Given the description of an element on the screen output the (x, y) to click on. 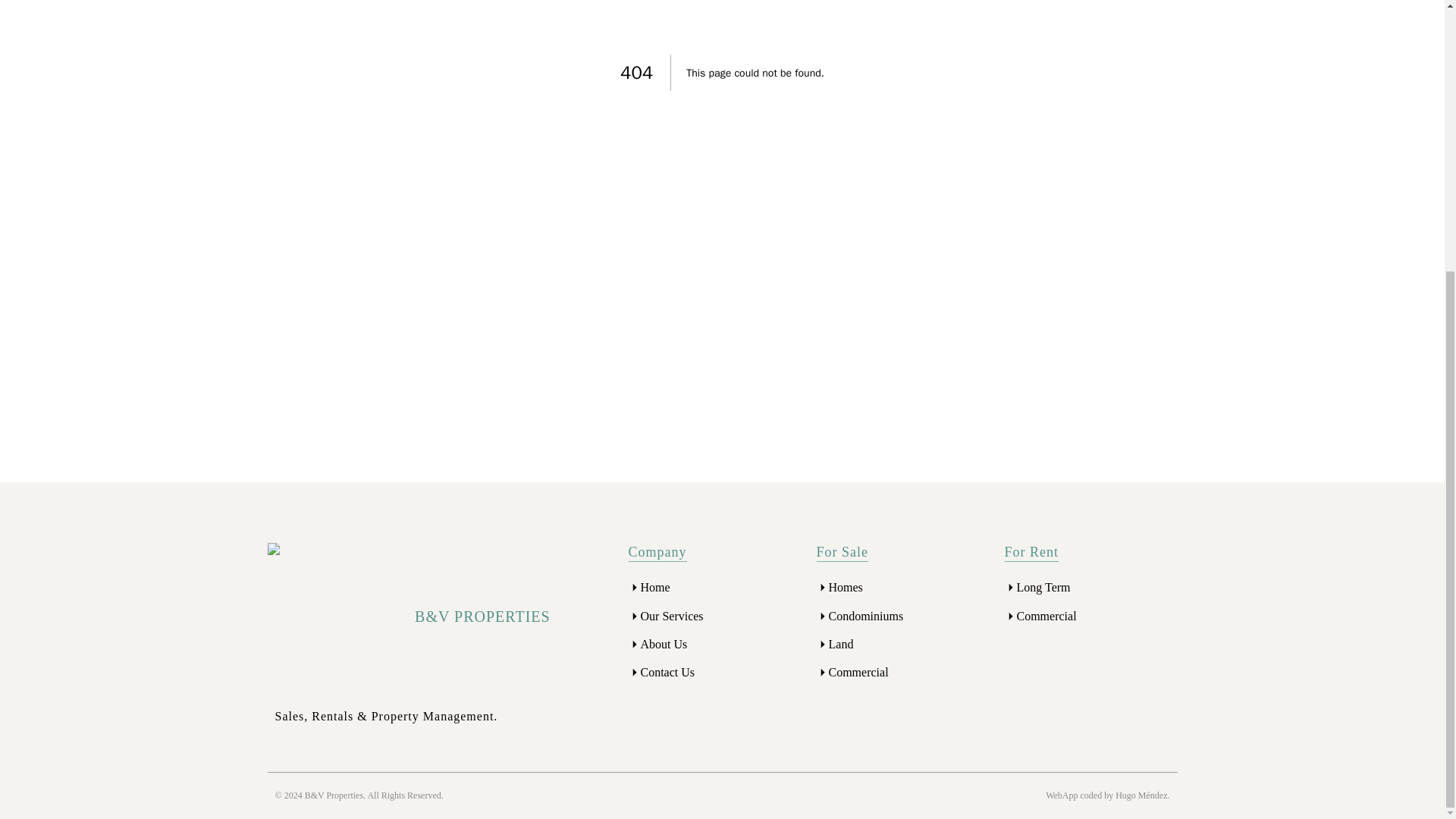
Contact Us (667, 671)
Commercial (858, 671)
Our Services (671, 616)
Homes (844, 587)
Condominiums (865, 616)
About Us (663, 643)
Long Term (1043, 587)
Land (840, 643)
Home (654, 587)
Commercial (1045, 616)
